Given the description of an element on the screen output the (x, y) to click on. 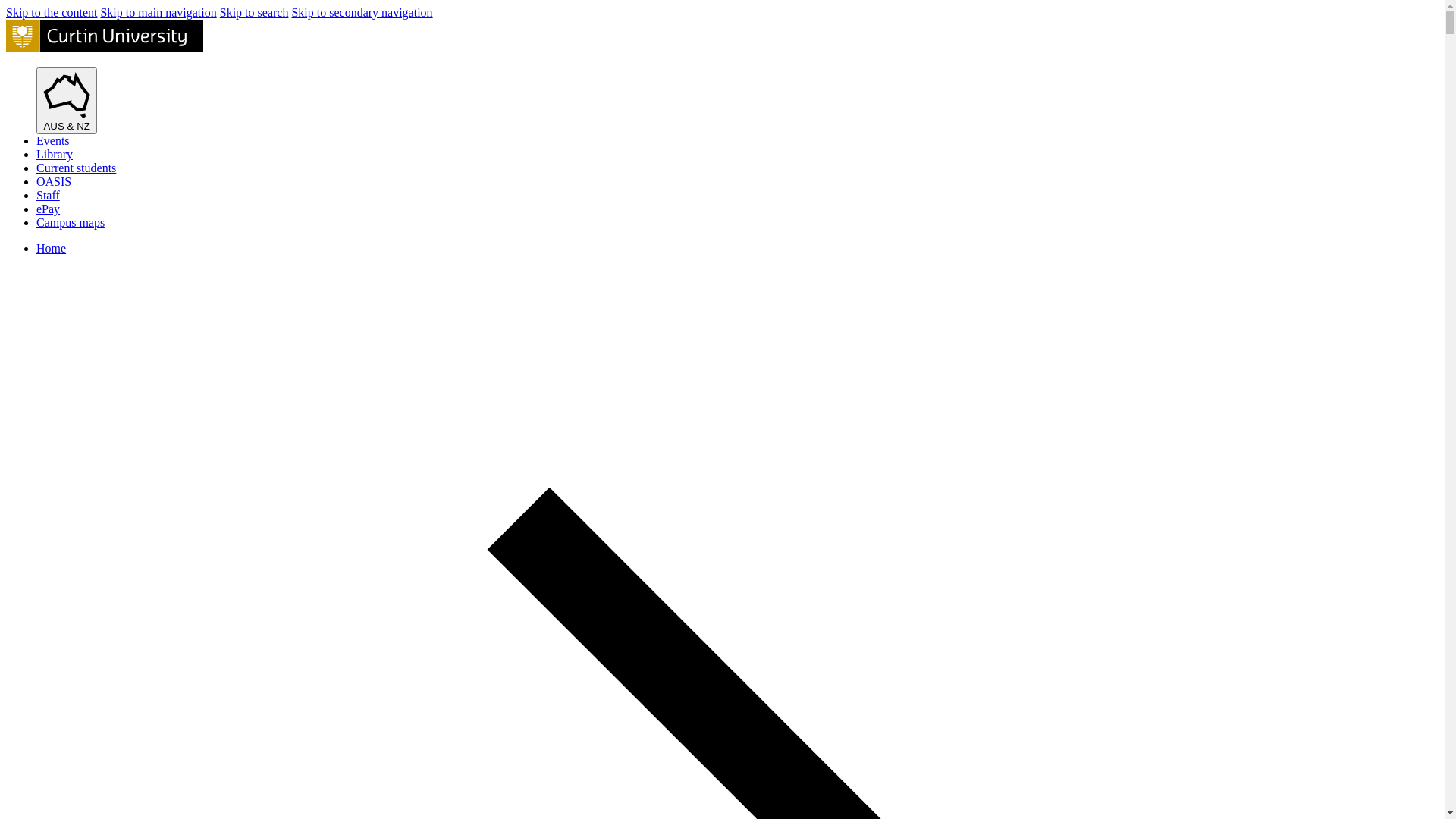
Home Element type: text (50, 247)
OASIS Element type: text (53, 181)
Events Element type: text (52, 140)
Current students Element type: text (76, 167)
Skip to main navigation Element type: text (158, 12)
Skip to the content Element type: text (51, 12)
Campus maps Element type: text (70, 222)
ePay Element type: text (47, 208)
Skip to search Element type: text (253, 12)
Skip to secondary navigation Element type: text (361, 12)
Library Element type: text (54, 153)
Staff Element type: text (47, 194)
AUS & NZ Element type: text (66, 100)
